Given the description of an element on the screen output the (x, y) to click on. 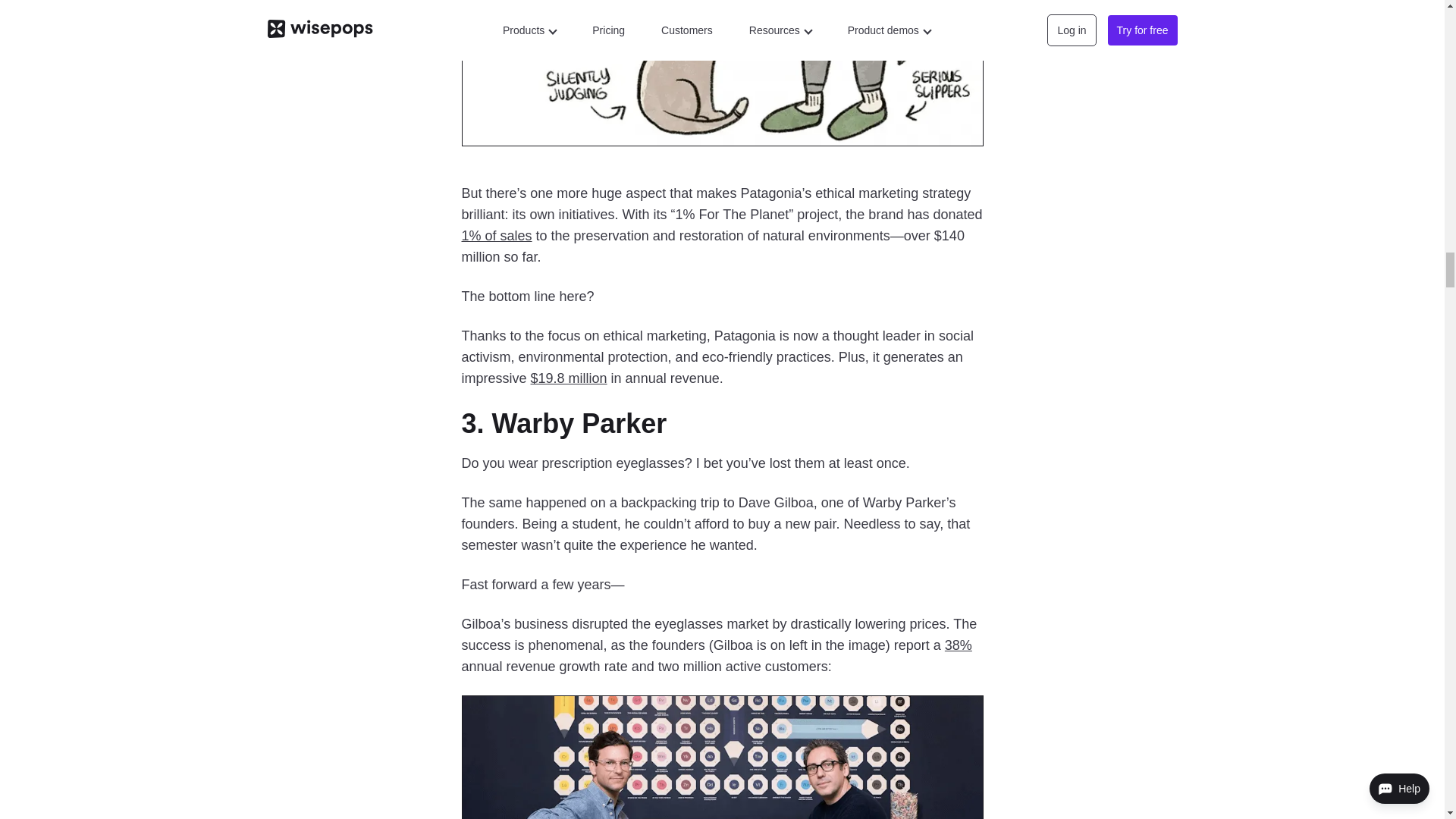
Warby Parker (579, 422)
